Given the description of an element on the screen output the (x, y) to click on. 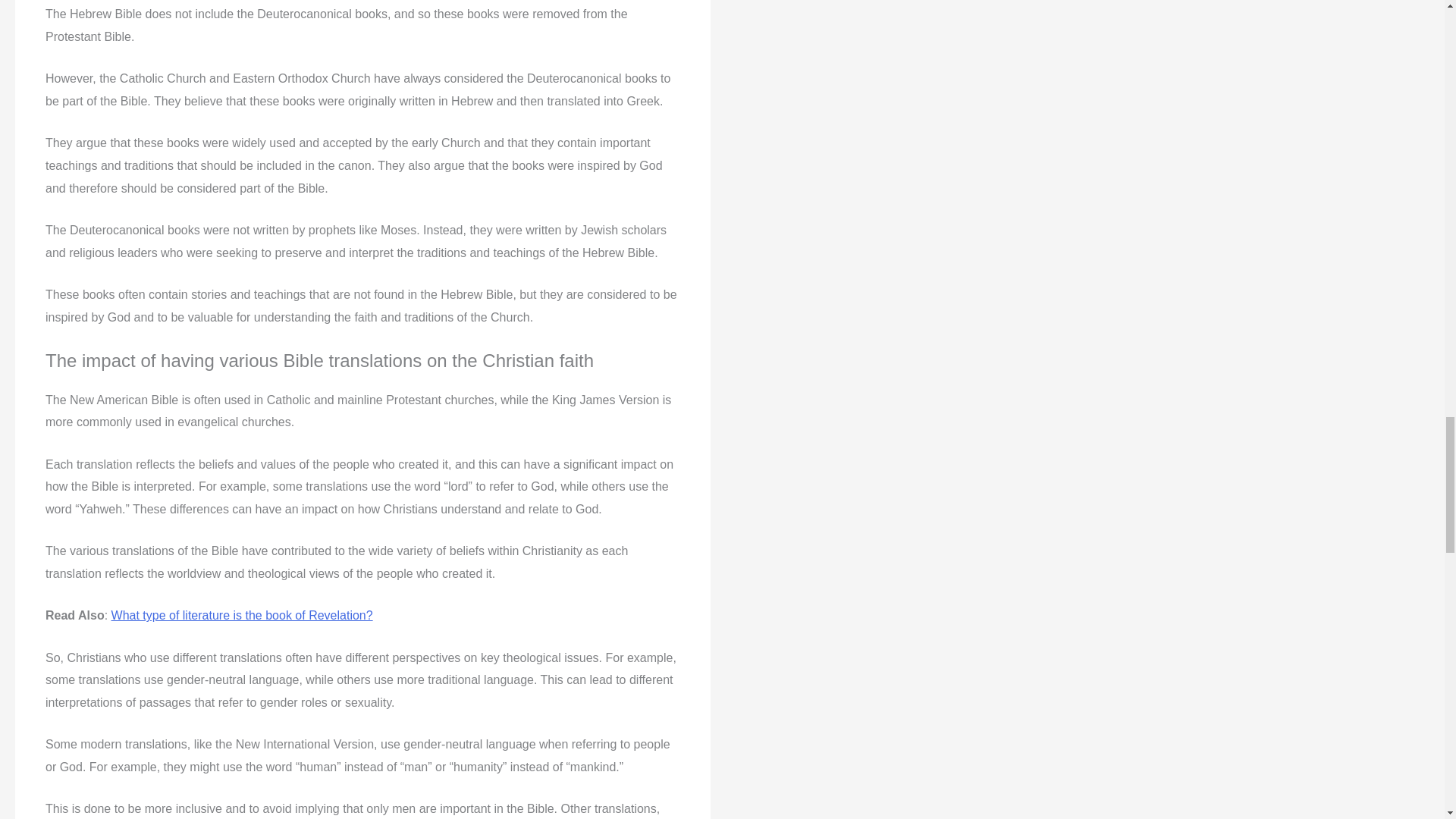
What type of literature is the book of Revelation? (242, 615)
